Given the description of an element on the screen output the (x, y) to click on. 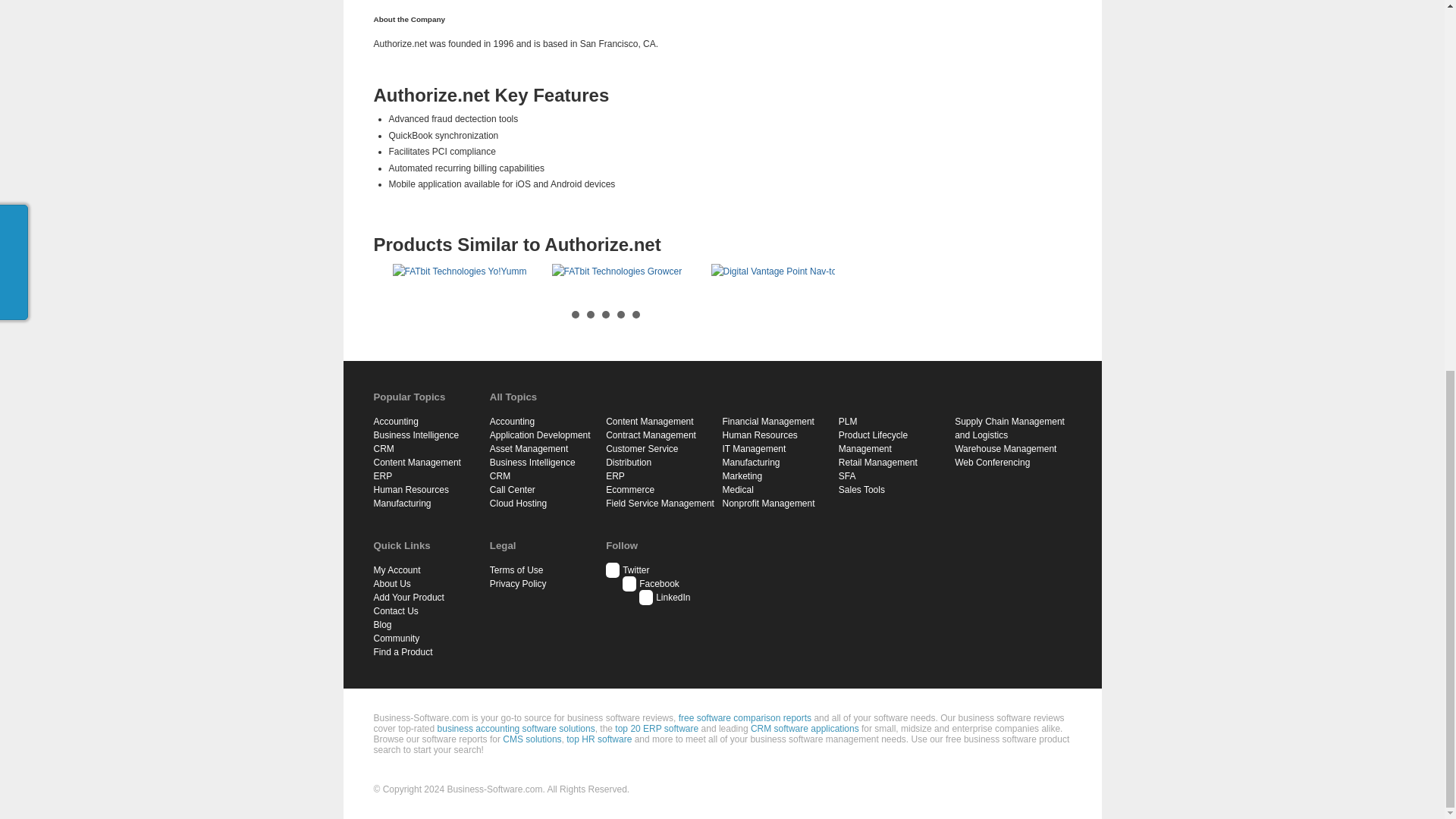
FATbit Technologies Yo!Yumm (472, 271)
FATbit Technologies Growcer (631, 271)
Digital Vantage Point Nav-to-Net (790, 271)
